Given the description of an element on the screen output the (x, y) to click on. 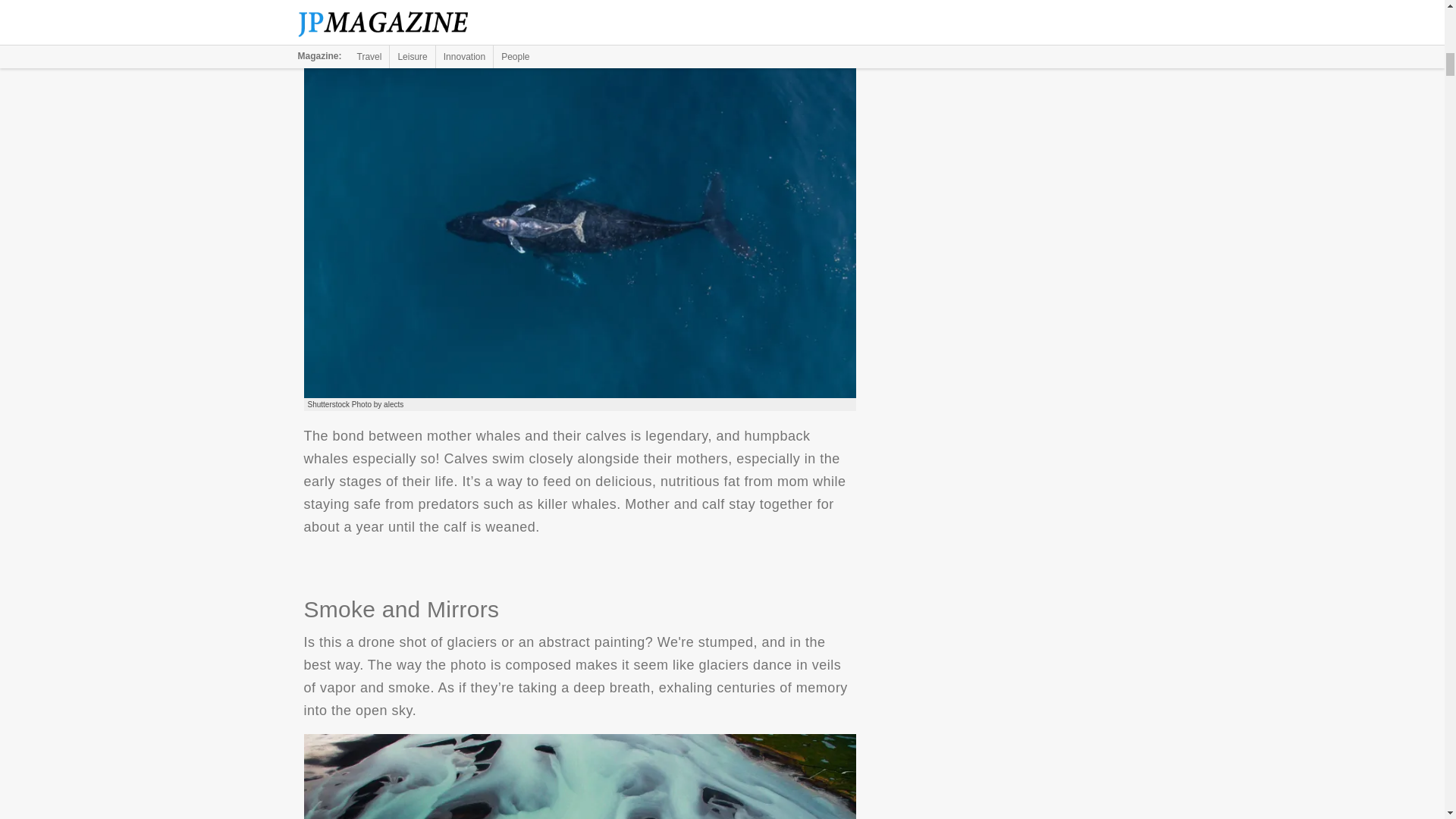
Smoke and Mirrors (579, 776)
